Given the description of an element on the screen output the (x, y) to click on. 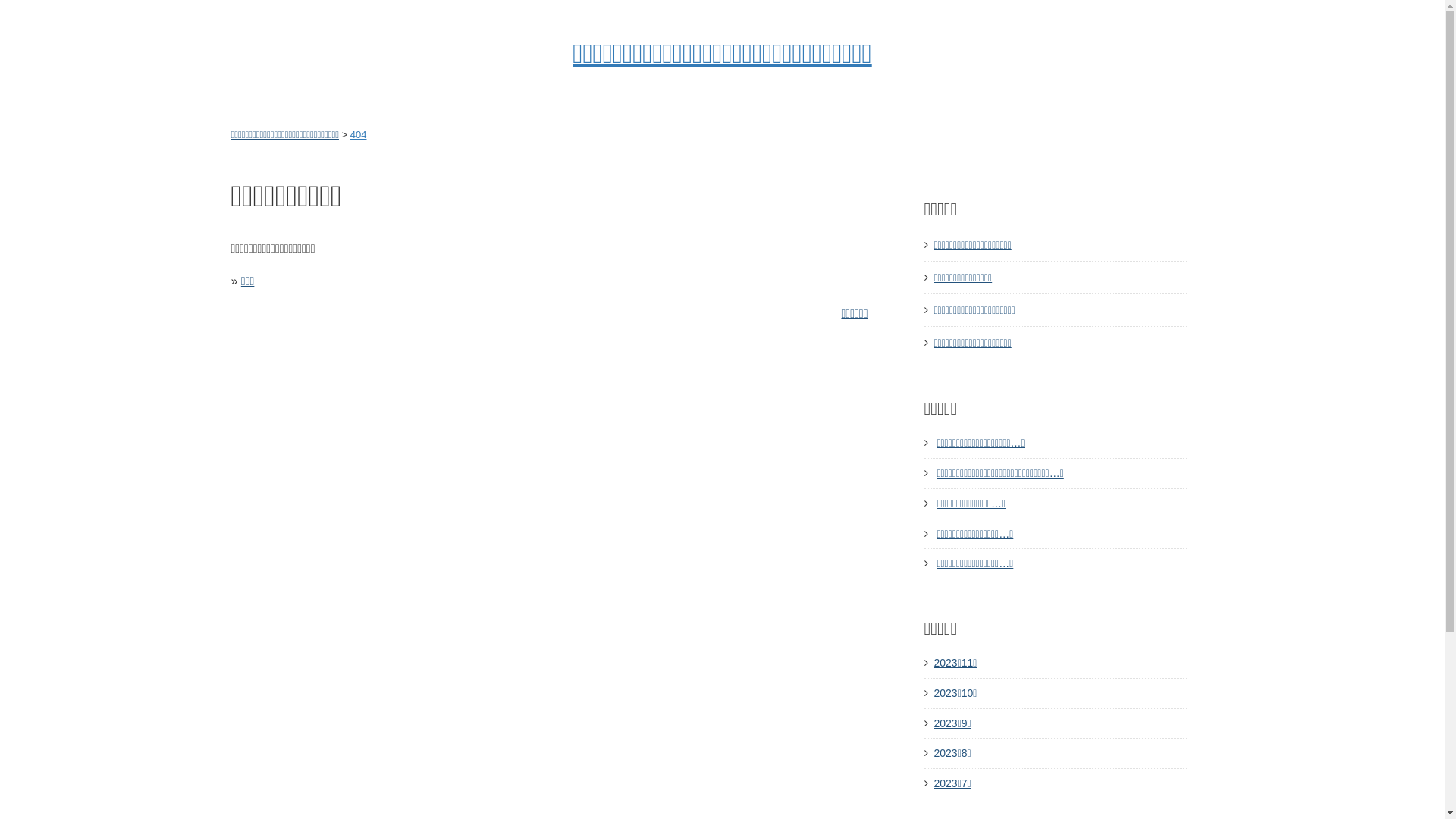
404 Element type: text (358, 134)
